Given the description of an element on the screen output the (x, y) to click on. 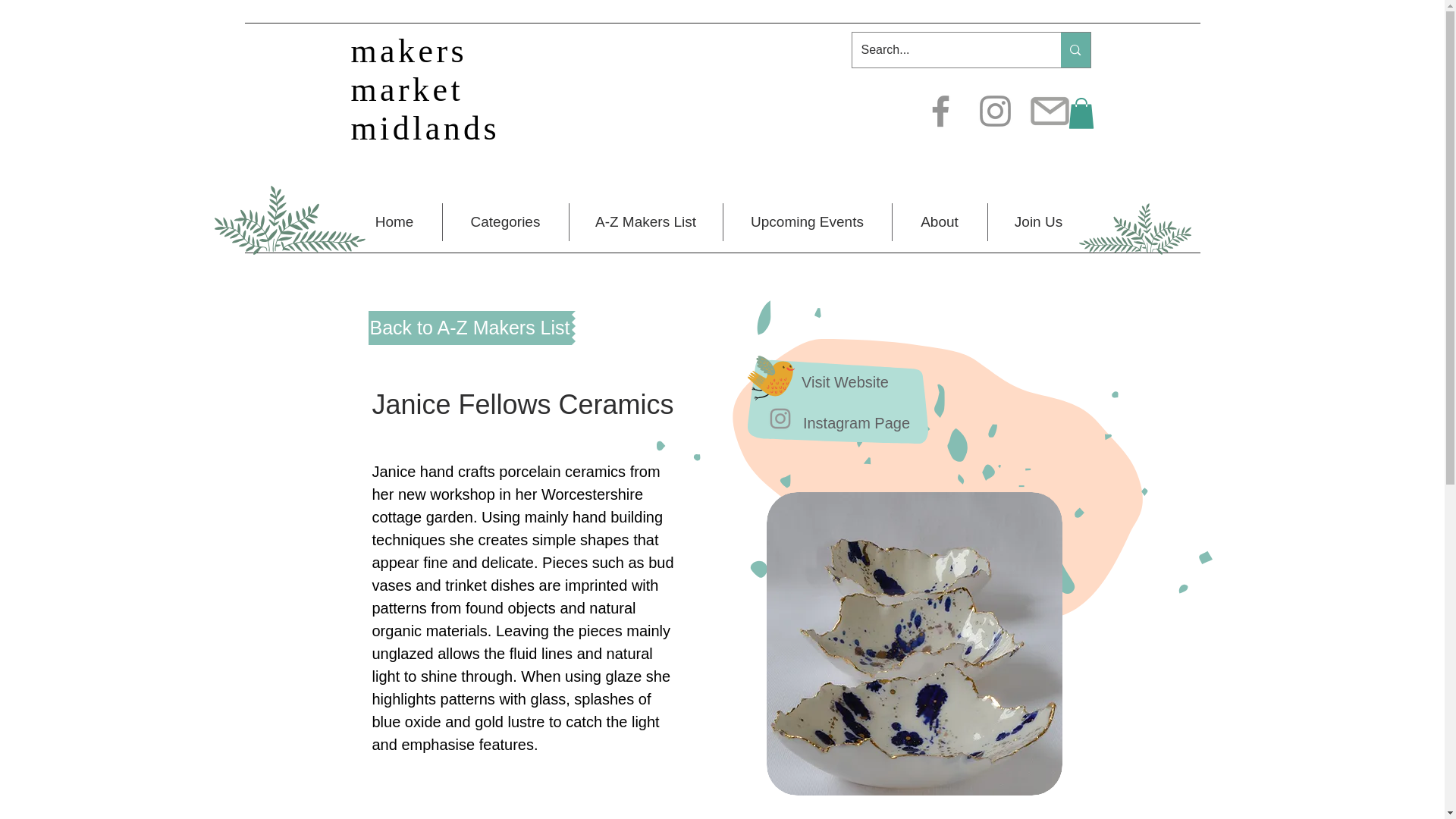
Join Us (1038, 221)
makers market midlands (424, 89)
Home (394, 221)
Back to A-Z Makers List (470, 327)
Categories (505, 221)
Instagram Page (856, 422)
A-Z Makers List (645, 221)
Visit Website (844, 381)
About (939, 221)
Upcoming Events (807, 221)
